Given the description of an element on the screen output the (x, y) to click on. 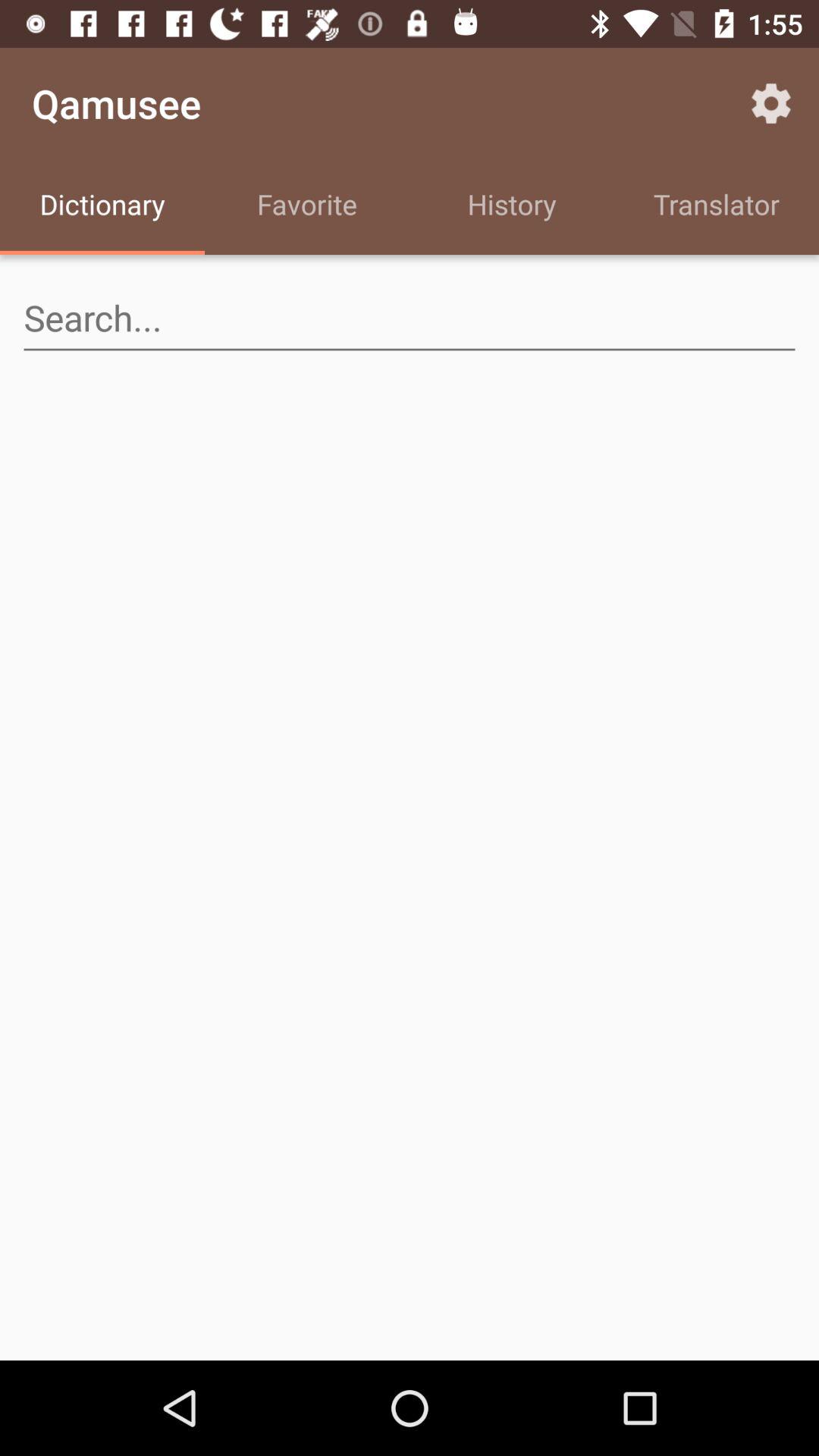
turn on the dictionary (102, 206)
